Given the description of an element on the screen output the (x, y) to click on. 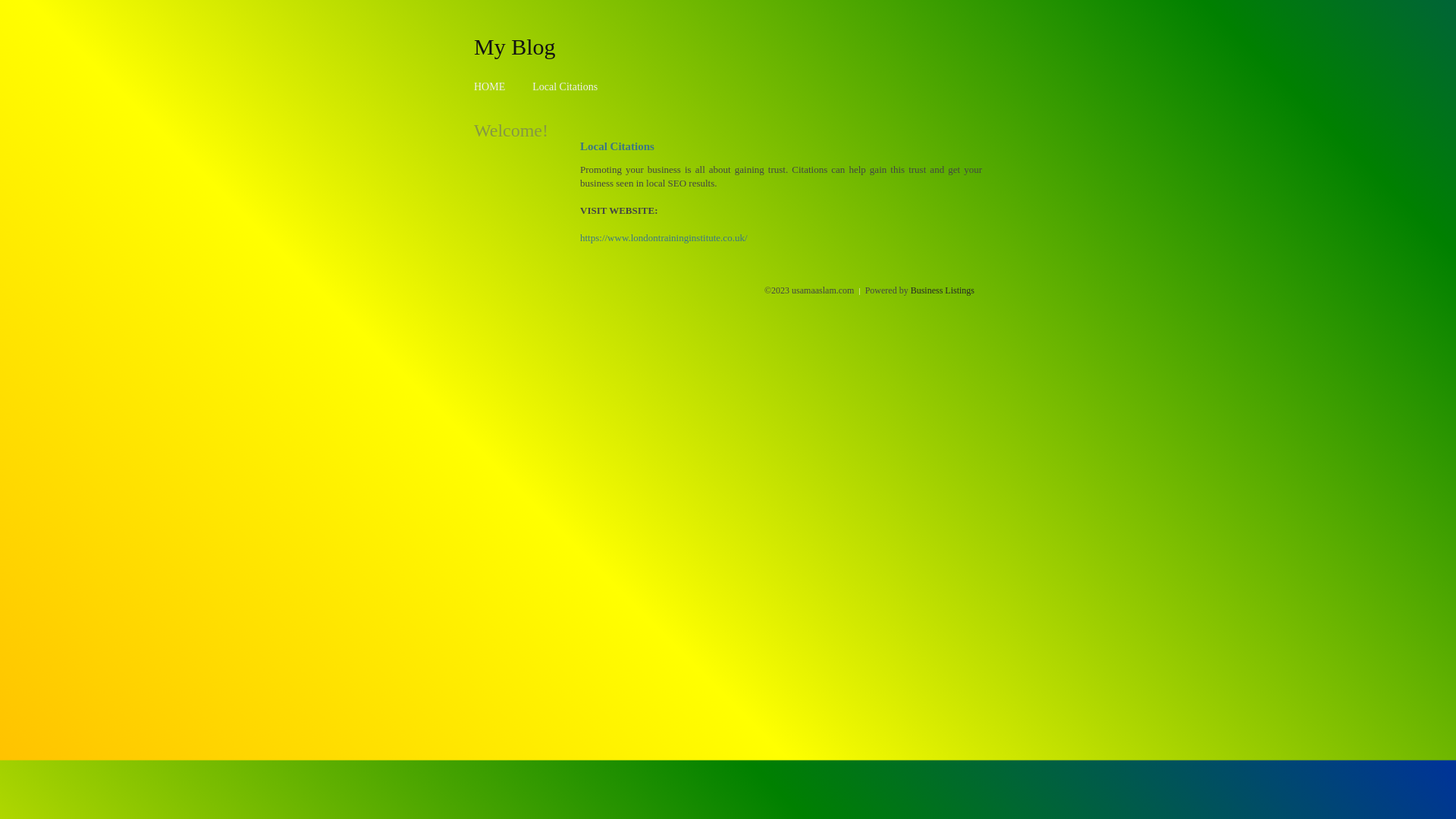
HOME Element type: text (489, 86)
My Blog Element type: text (514, 46)
https://www.londontraininginstitute.co.uk/ Element type: text (663, 237)
Local Citations Element type: text (564, 86)
Business Listings Element type: text (942, 290)
